Given the description of an element on the screen output the (x, y) to click on. 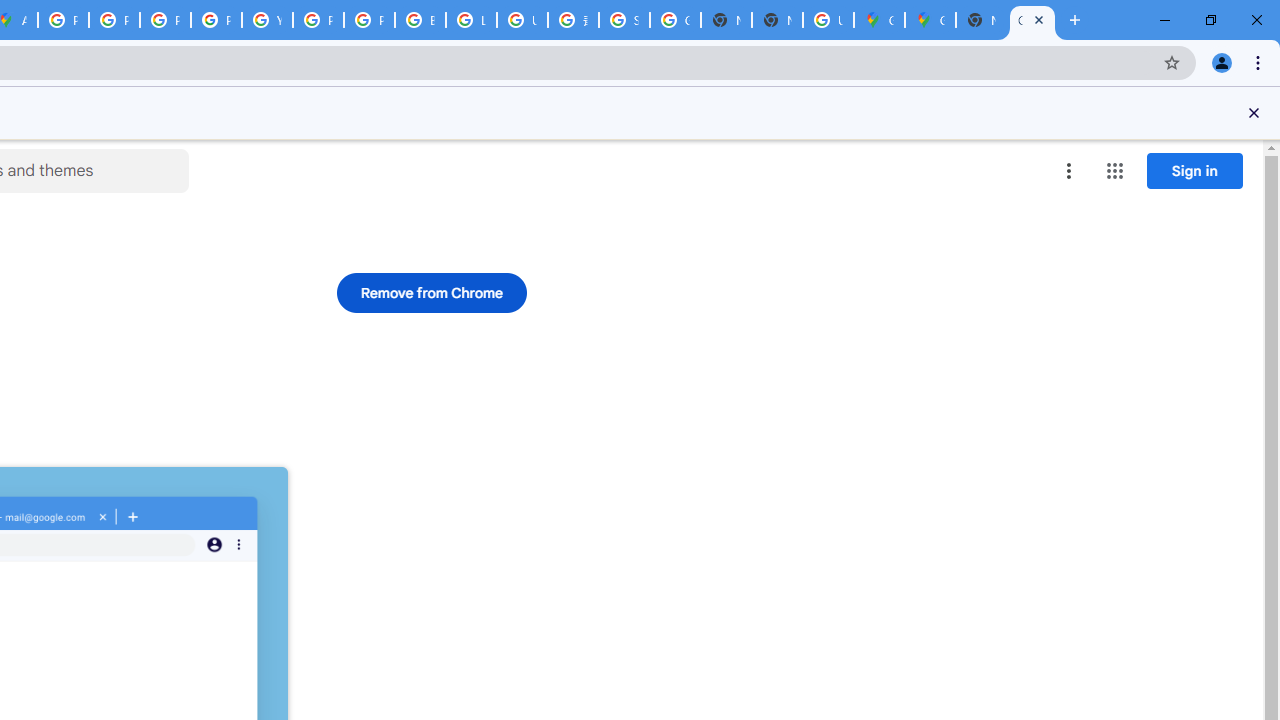
Privacy Help Center - Policies Help (164, 20)
Remove from Chrome (431, 292)
Sign in - Google Accounts (624, 20)
New Tab (981, 20)
Google Maps (930, 20)
